Given the description of an element on the screen output the (x, y) to click on. 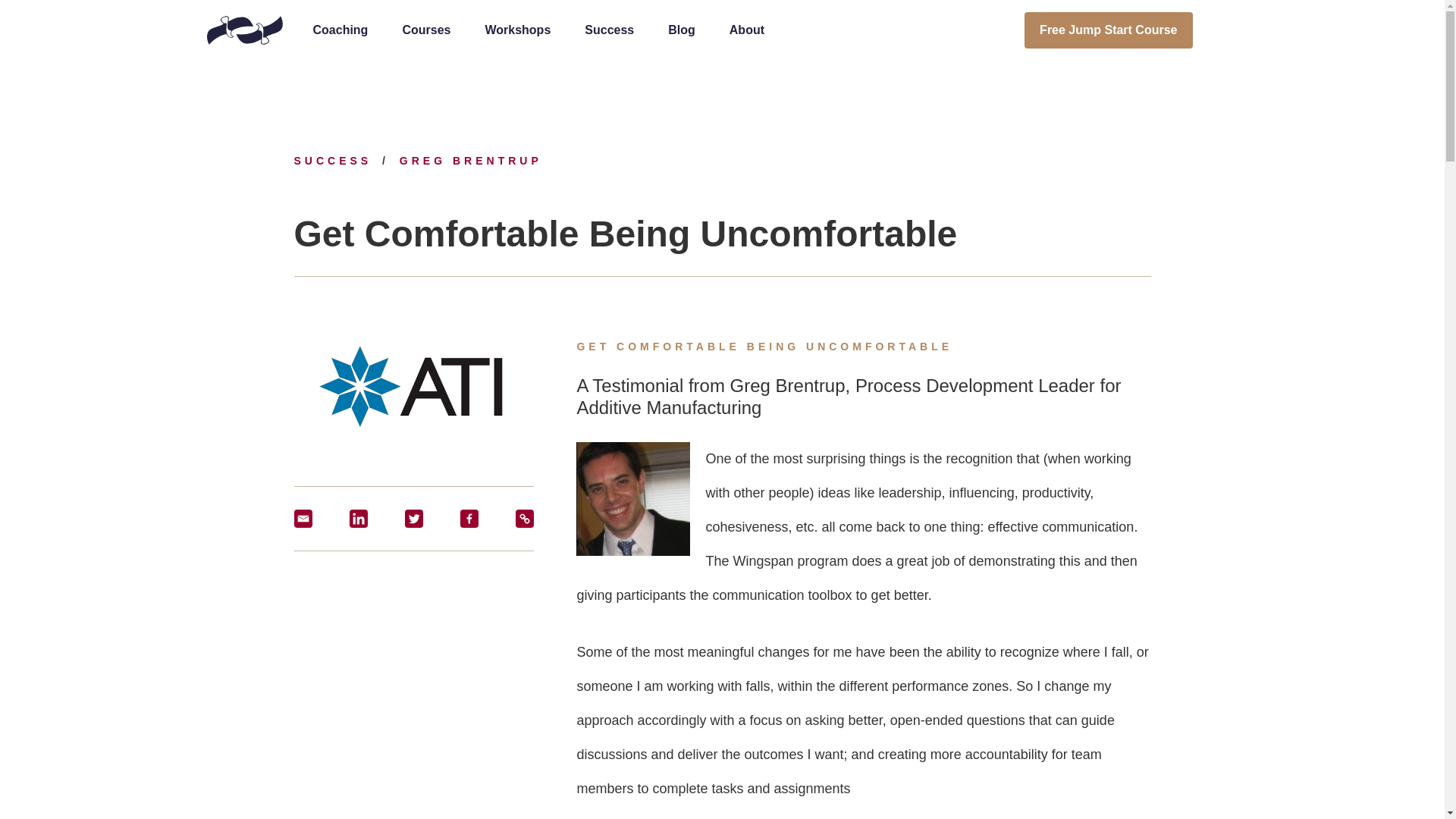
Twitter (413, 518)
Email (303, 518)
Workshops (517, 32)
GREG BRENTRUP (469, 160)
Facebook (469, 518)
SUCCESS (336, 160)
Linkedin (358, 518)
Copy Link (524, 518)
Free Jump Start Course (1108, 29)
